Given the description of an element on the screen output the (x, y) to click on. 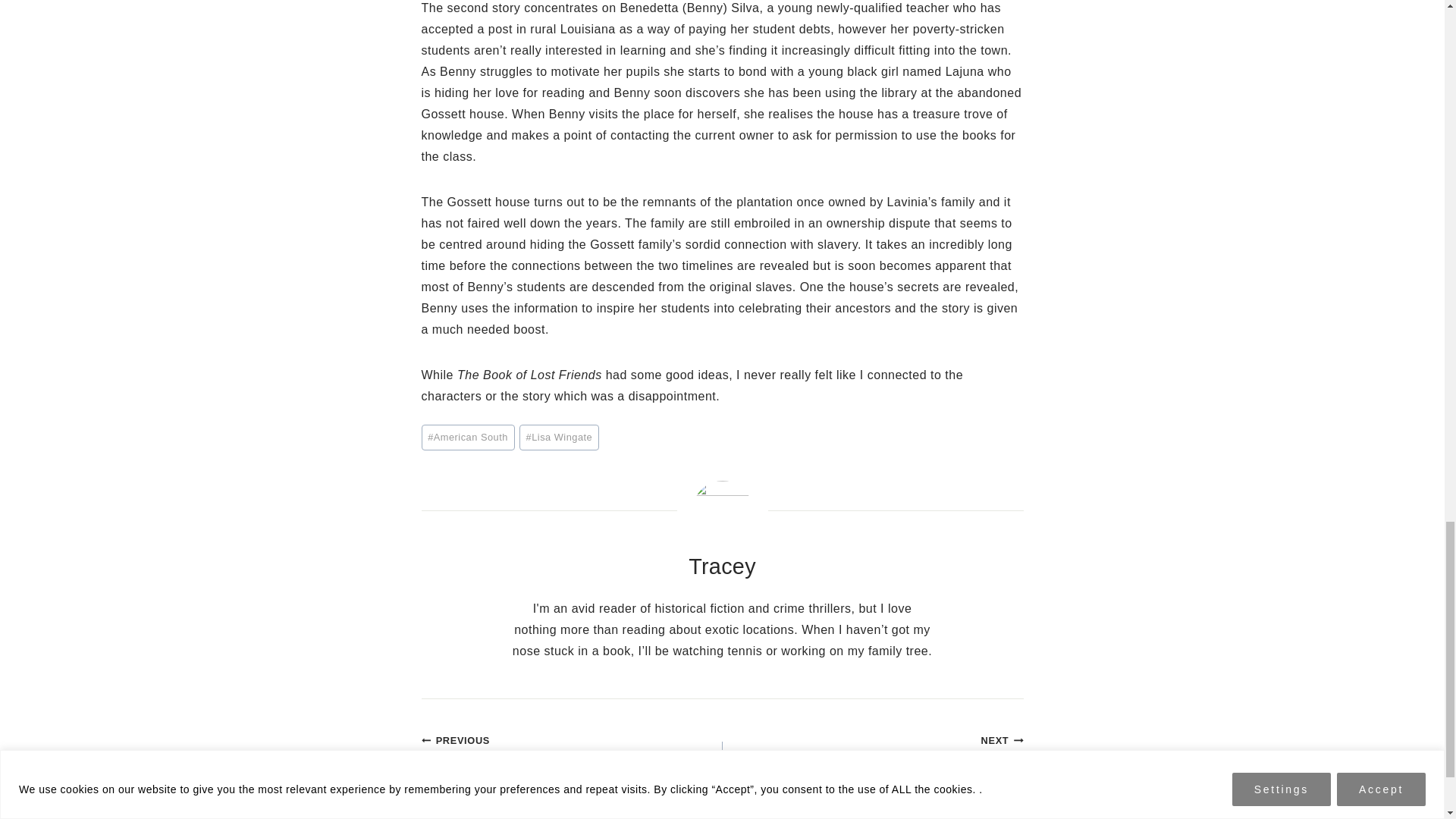
Posts by Tracey (721, 566)
American South (468, 438)
Lisa Wingate (558, 438)
